Given the description of an element on the screen output the (x, y) to click on. 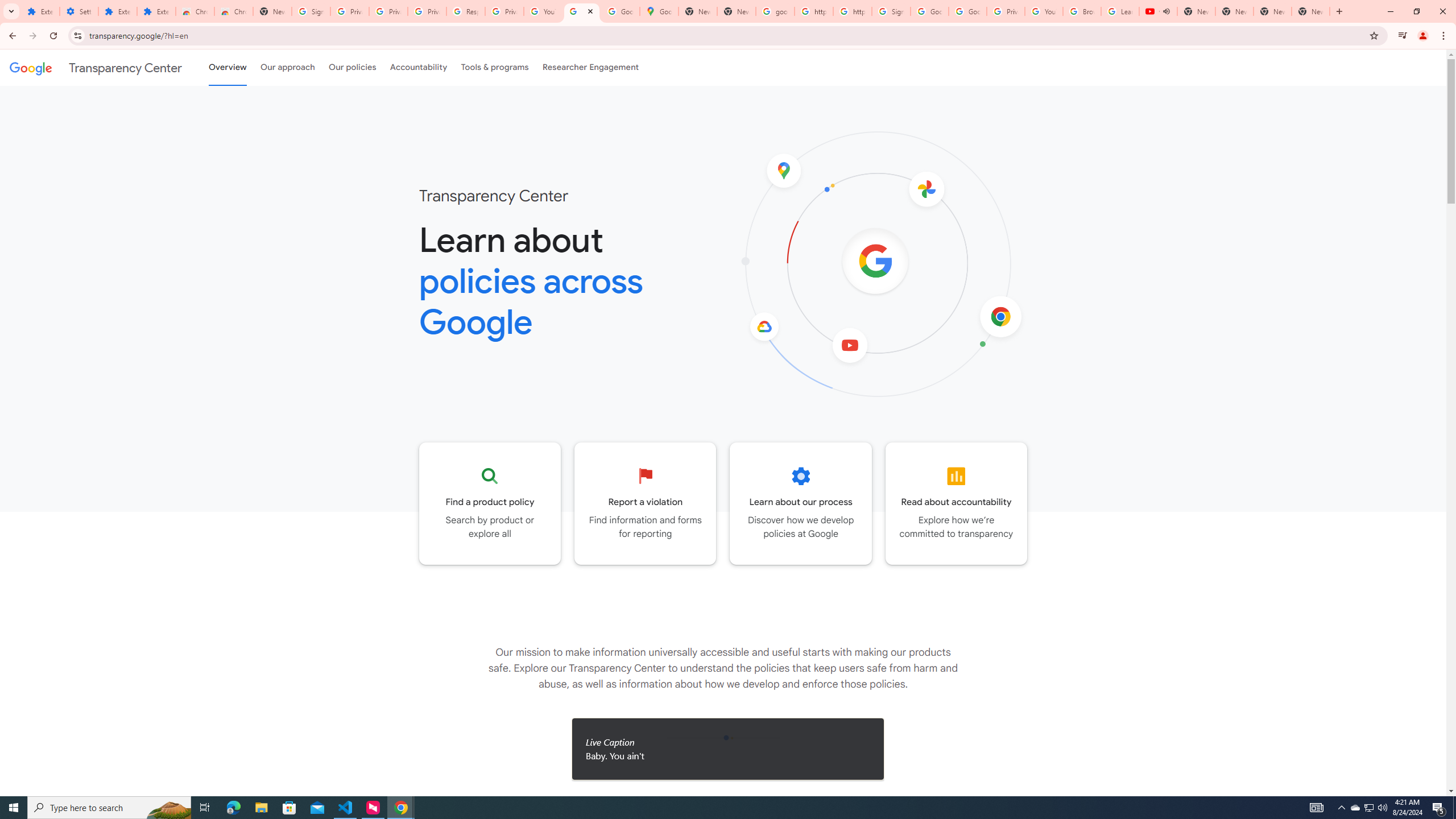
Google Maps (659, 11)
Chrome Web Store (194, 11)
Extensions (40, 11)
New Tab (1311, 11)
Go to the Reporting and appeals page (645, 503)
YouTube (1043, 11)
